Given the description of an element on the screen output the (x, y) to click on. 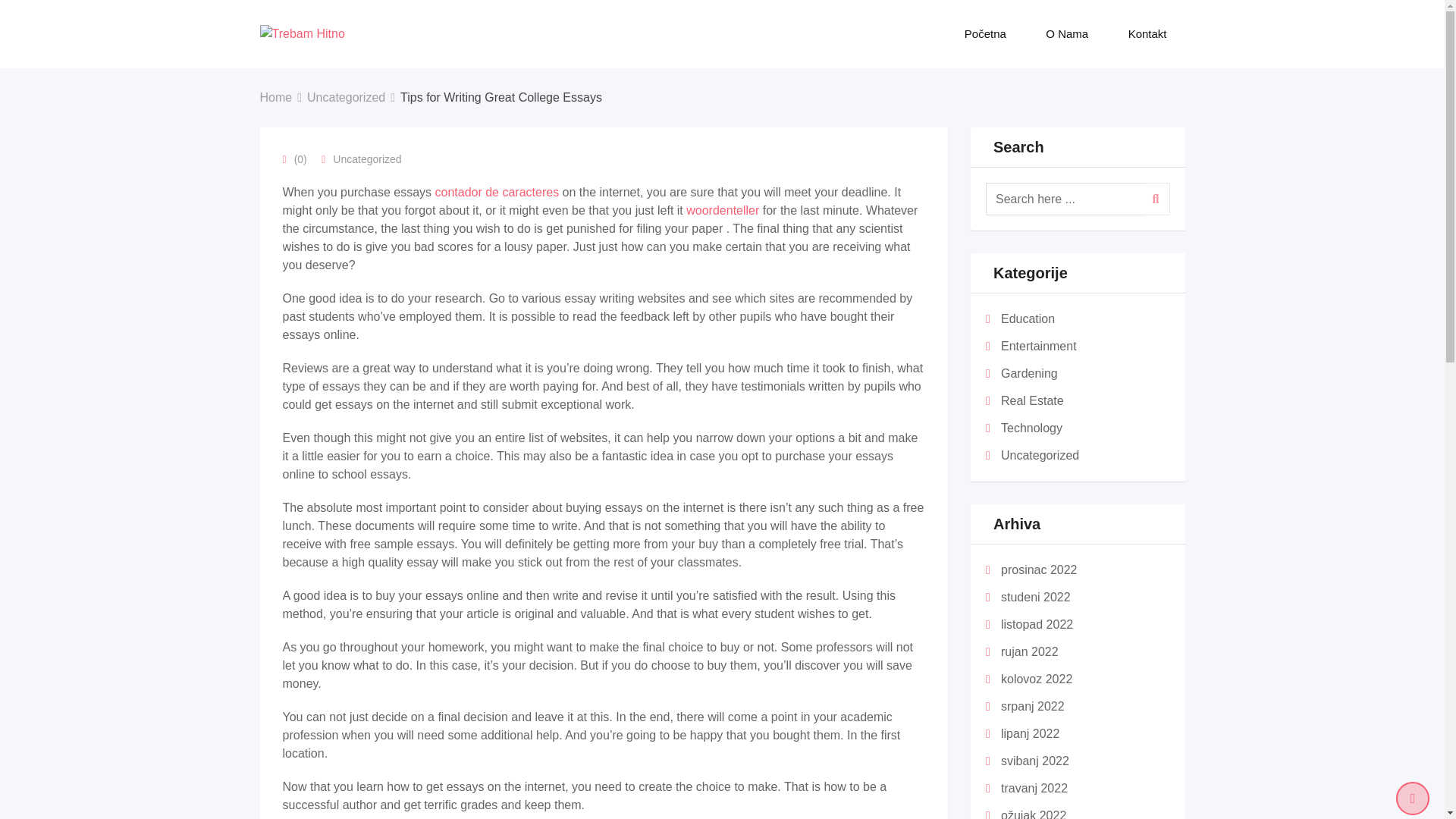
Gardening (1029, 373)
studeni 2022 (1035, 596)
woordenteller (721, 210)
O Nama (1066, 33)
Home (275, 97)
Uncategorized (346, 97)
Real Estate (1032, 400)
Uncategorized (367, 159)
kolovoz 2022 (1036, 678)
listopad 2022 (1037, 624)
Technology (1031, 427)
prosinac 2022 (1039, 569)
Entertainment (1039, 345)
rujan 2022 (1029, 651)
srpanj 2022 (1032, 706)
